Given the description of an element on the screen output the (x, y) to click on. 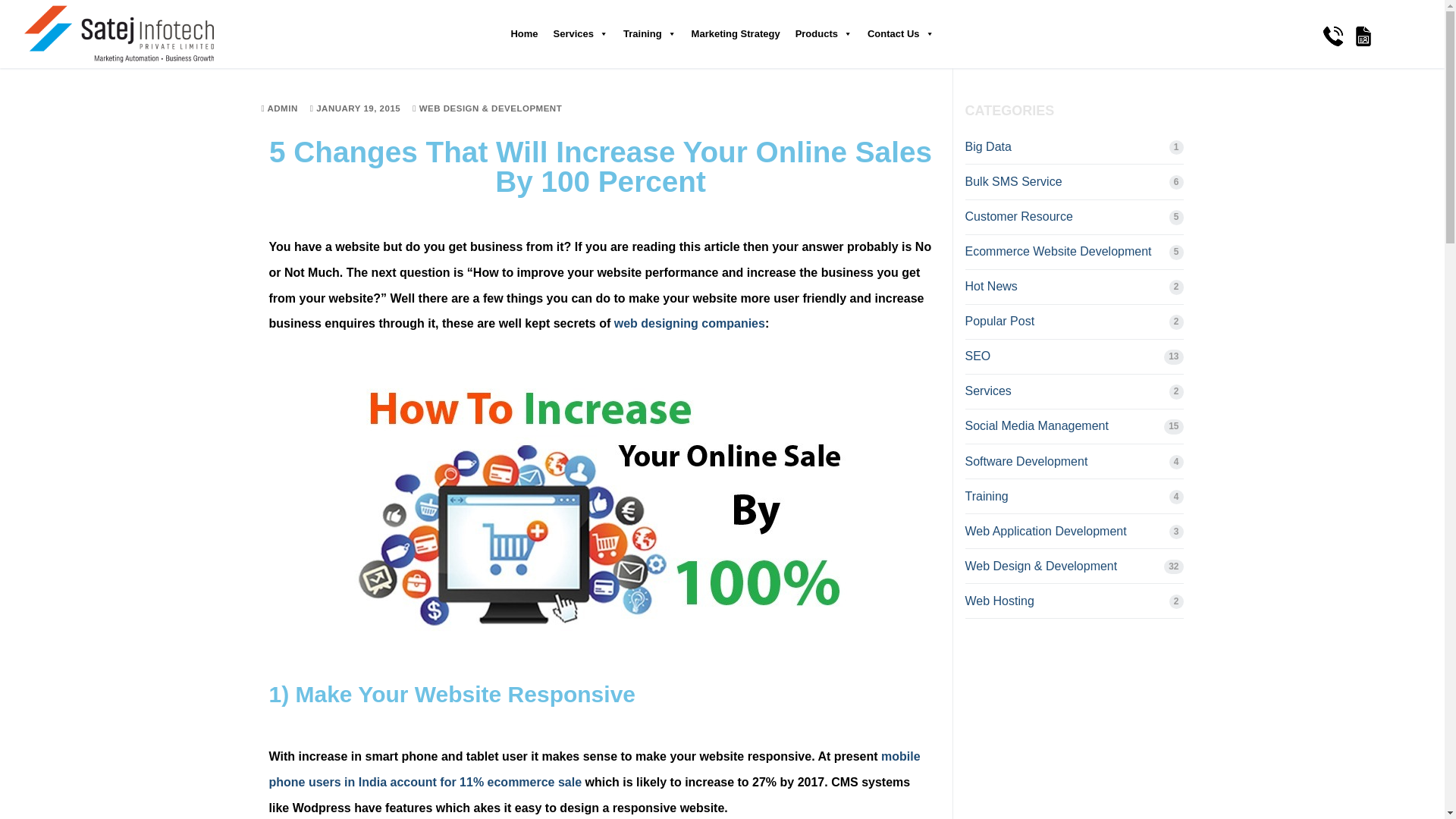
VCF (1363, 43)
Home (523, 33)
Services (580, 33)
Training (649, 33)
Phone (1332, 36)
VCF (1363, 36)
